Given the description of an element on the screen output the (x, y) to click on. 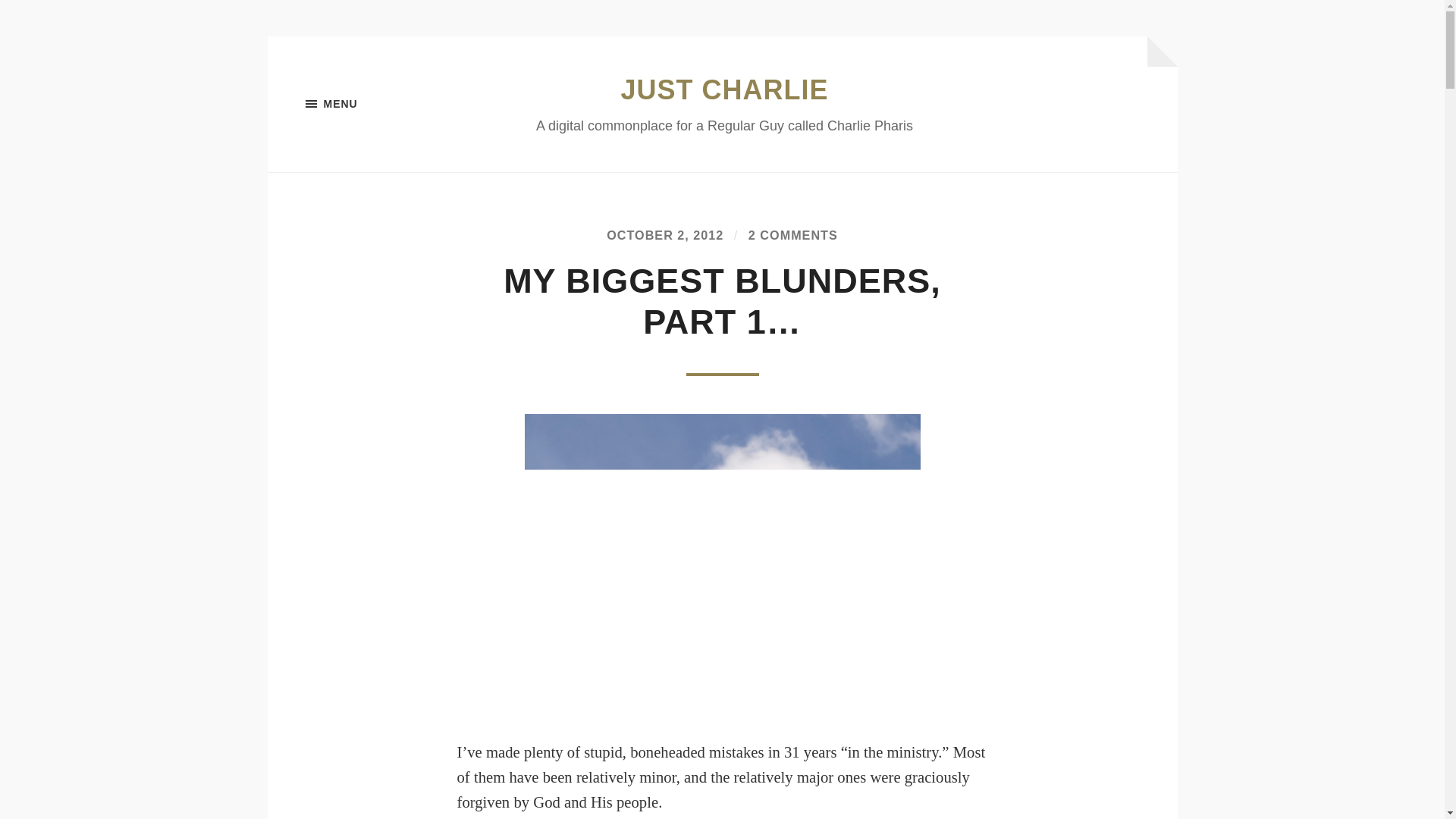
MENU (380, 103)
2 COMMENTS (793, 234)
JUST CHARLIE (724, 89)
OCTOBER 2, 2012 (665, 234)
